Given the description of an element on the screen output the (x, y) to click on. 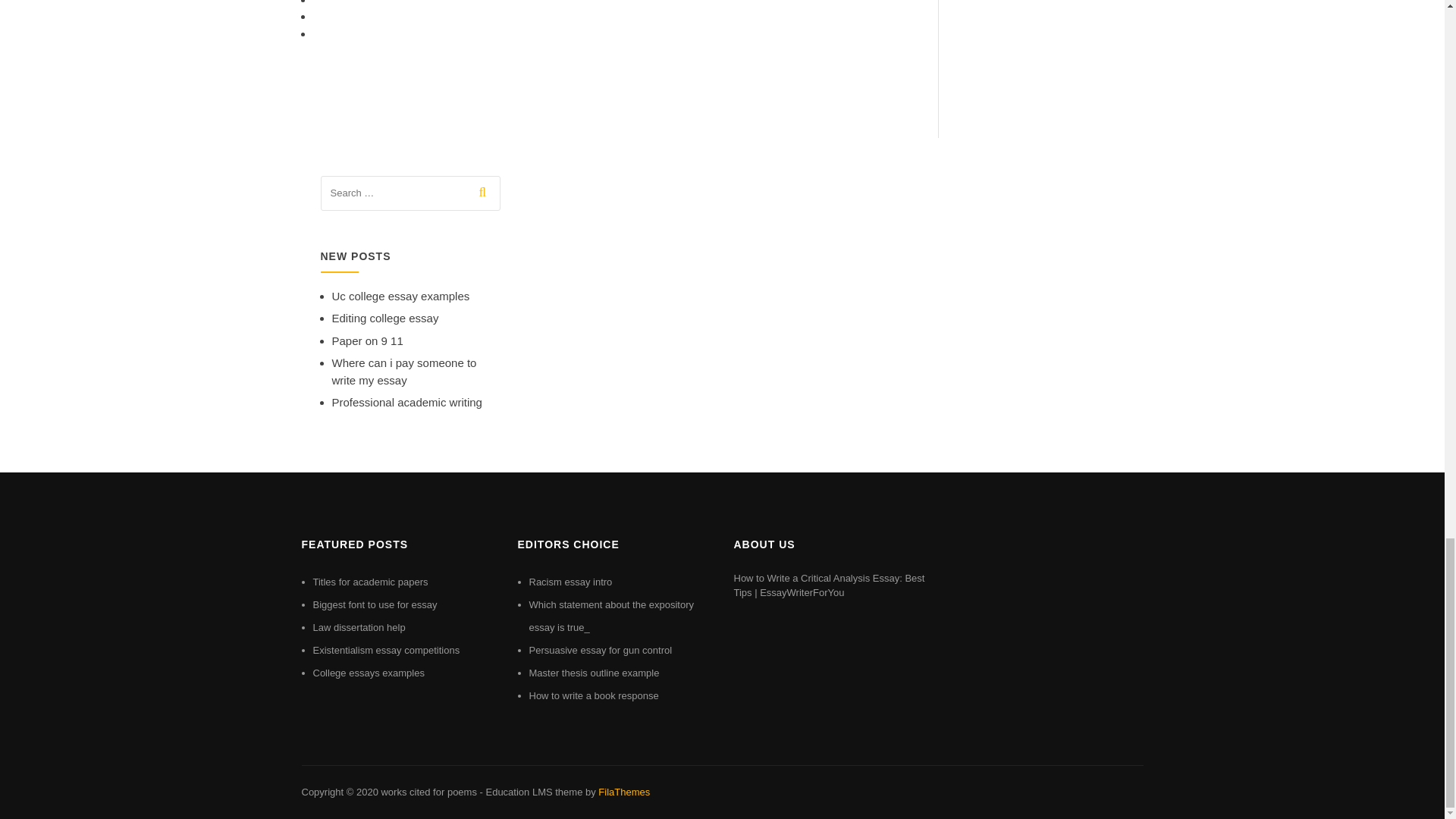
How to write a book response (594, 695)
Law dissertation help (358, 627)
Persuasive essay for gun control (600, 650)
Uc college essay examples (400, 295)
Existentialism essay competitions (386, 650)
Editing college essay (385, 318)
works cited for poems (428, 791)
College essays examples (368, 672)
Racism essay intro (570, 582)
Professional academic writing (406, 401)
Biggest font to use for essay (374, 604)
Titles for academic papers (370, 582)
Where can i pay someone to write my essay (404, 371)
Paper on 9 11 (367, 340)
Master thesis outline example (594, 672)
